Given the description of an element on the screen output the (x, y) to click on. 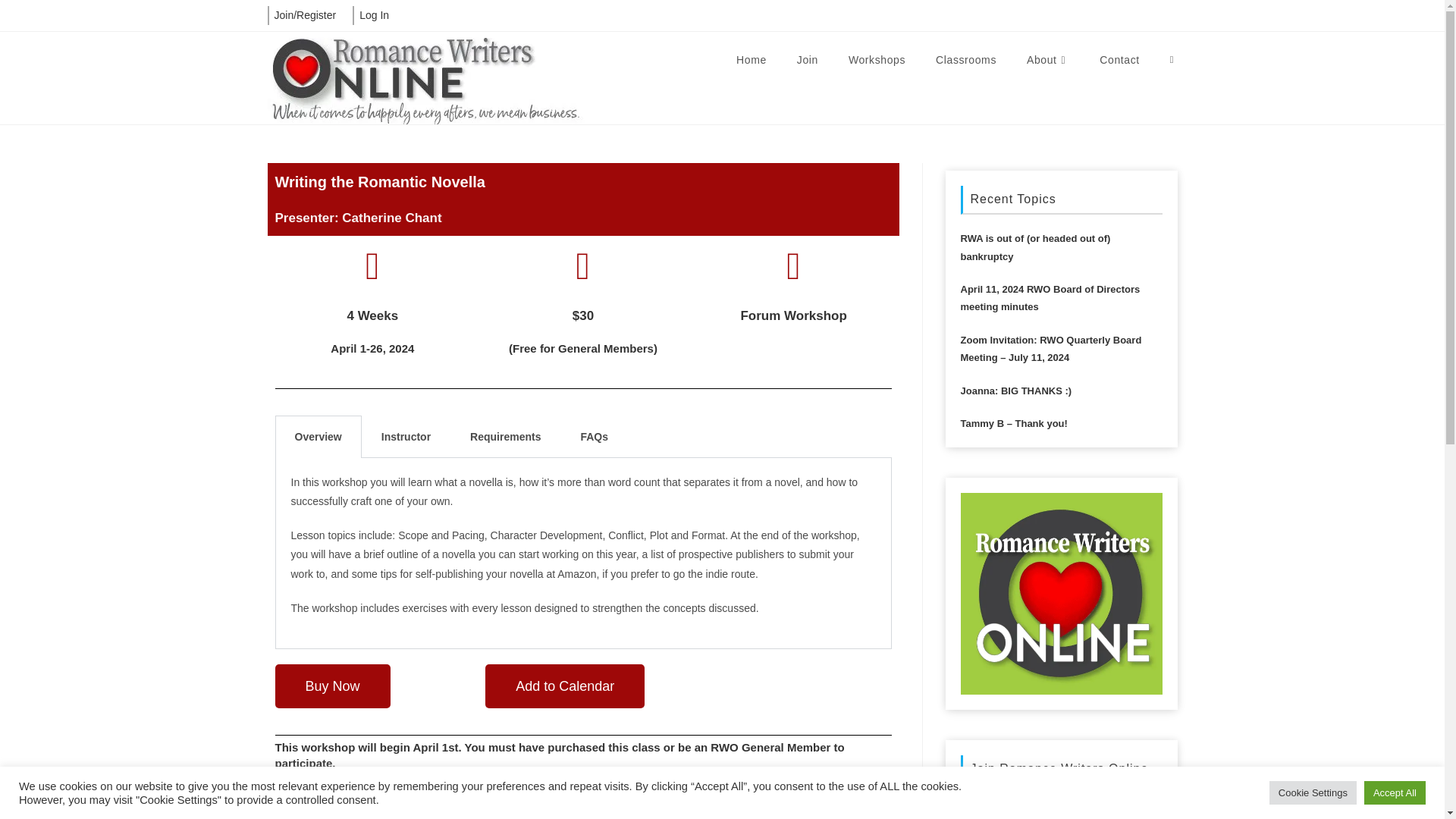
Contact (1119, 59)
Buy Now (332, 686)
Join Romance Writers Online (1028, 792)
Home (750, 59)
April 11, 2024 RWO Board of Directors meeting minutes (1060, 290)
Enter Forum Classroom (377, 805)
Workshops (876, 59)
Classrooms (965, 59)
Add to Calendar (564, 686)
Join (806, 59)
About (1047, 59)
Log In (373, 15)
